Given the description of an element on the screen output the (x, y) to click on. 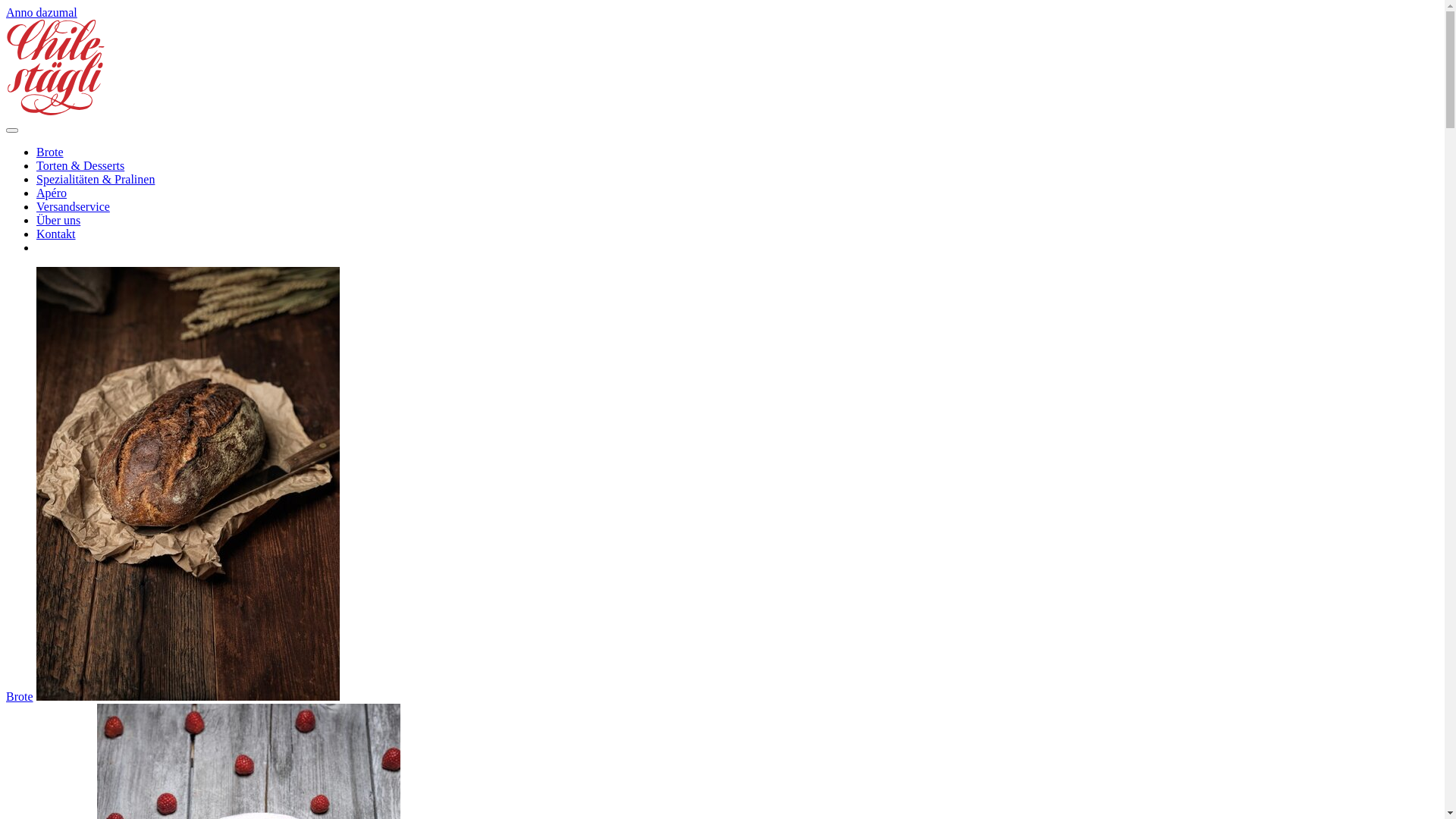
Torten & Desserts Element type: text (80, 165)
Anno dazumal Element type: text (41, 12)
Kontakt Element type: text (55, 233)
Brote Element type: text (49, 151)
Brote Element type: text (19, 696)
Versandservice Element type: text (72, 206)
